Given the description of an element on the screen output the (x, y) to click on. 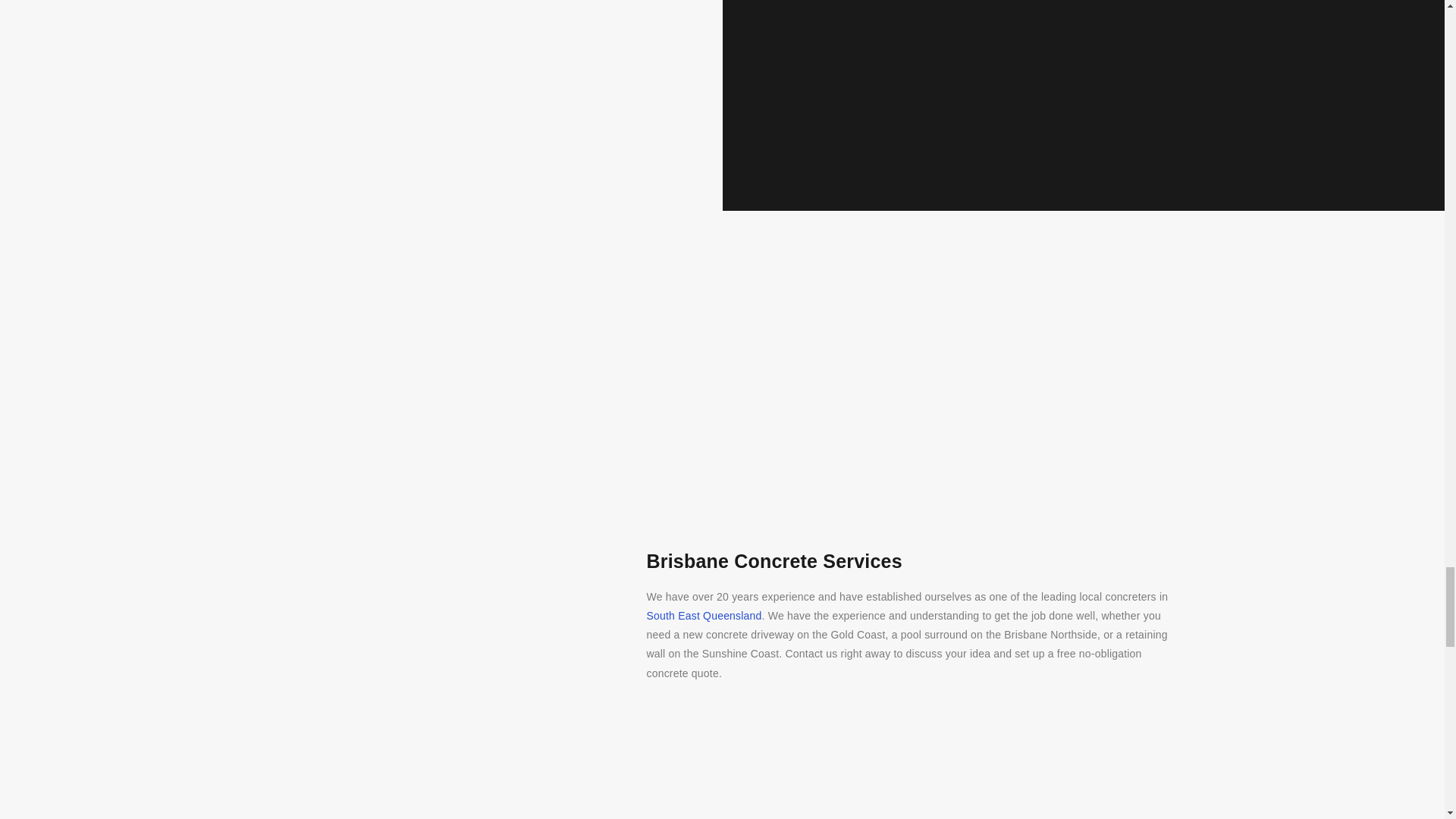
Brisbane Concrete Services (911, 560)
